Given the description of an element on the screen output the (x, y) to click on. 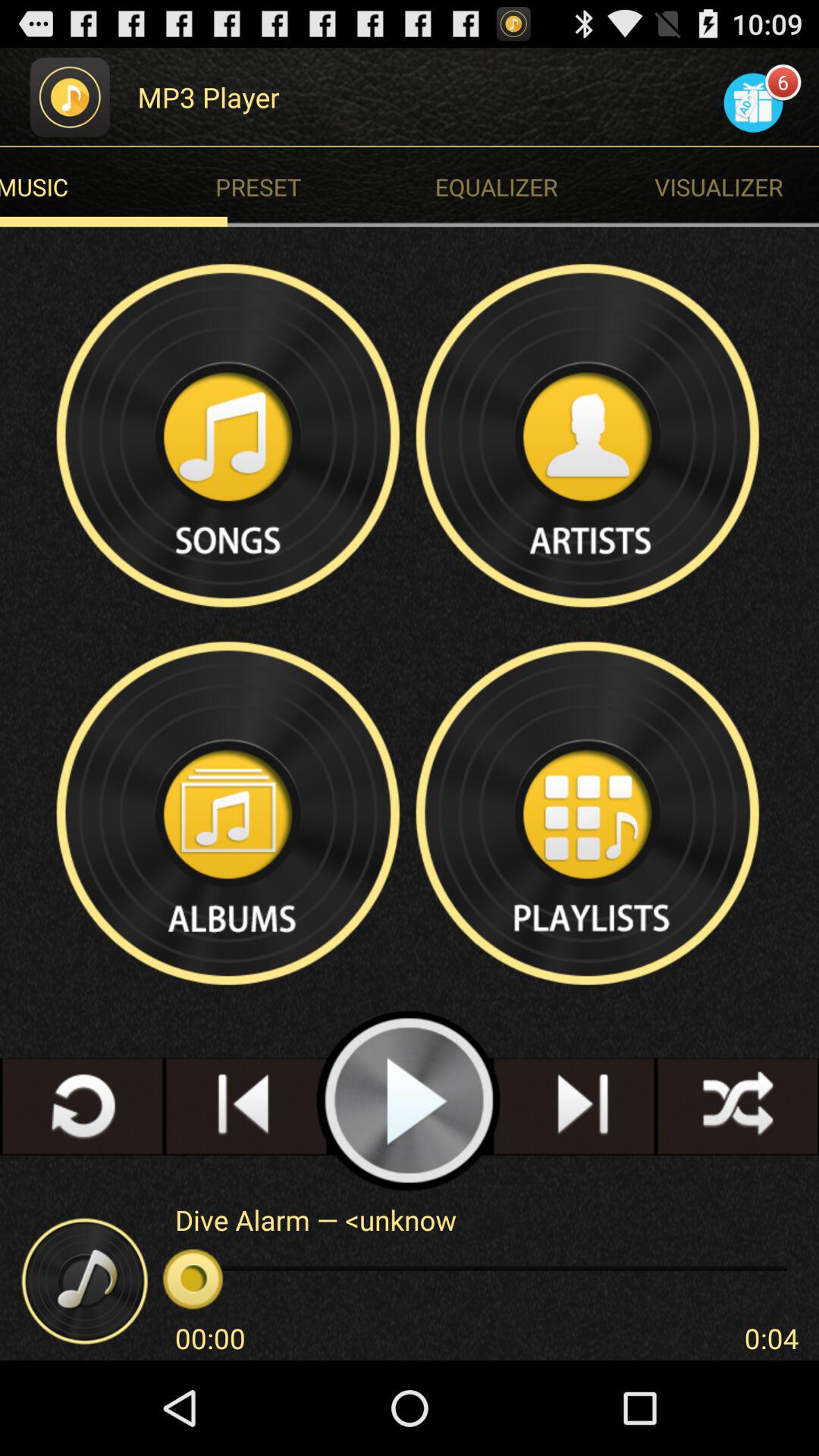
feature link (588, 435)
